Given the description of an element on the screen output the (x, y) to click on. 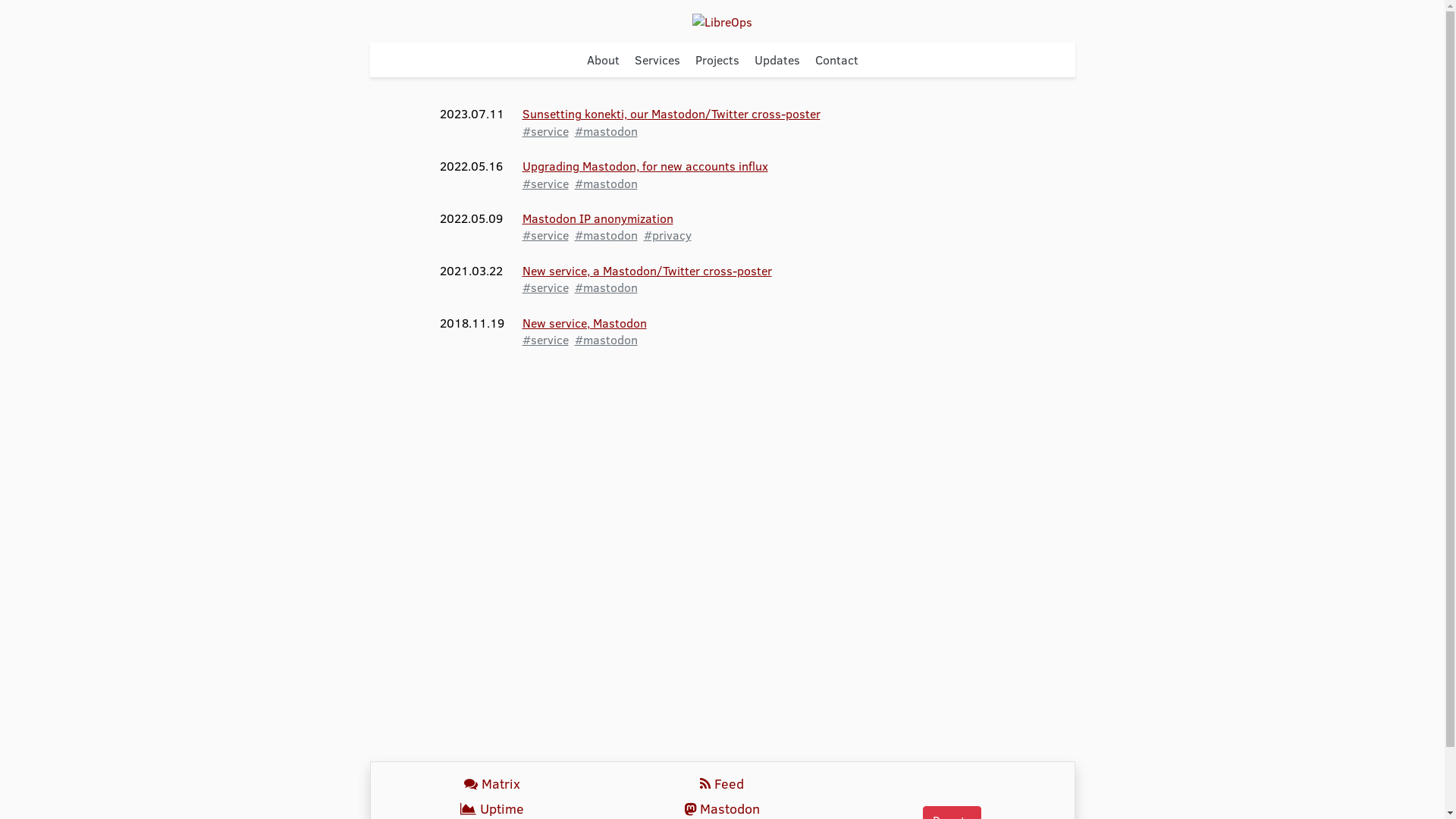
#service Element type: text (544, 339)
#mastodon Element type: text (605, 130)
Uptime Element type: text (491, 808)
#mastodon Element type: text (605, 234)
Matrix Element type: text (491, 783)
#service Element type: text (544, 286)
New service, Mastodon Element type: text (583, 322)
Feed Element type: text (721, 783)
#privacy Element type: text (666, 234)
Services Element type: text (656, 59)
#mastodon Element type: text (605, 183)
#mastodon Element type: text (605, 339)
Upgrading Mastodon, for new accounts influx Element type: text (644, 165)
#service Element type: text (544, 183)
#service Element type: text (544, 130)
#mastodon Element type: text (605, 286)
Mastodon IP anonymization Element type: text (596, 217)
About Element type: text (602, 59)
Mastodon Element type: text (721, 808)
Projects Element type: text (716, 59)
Updates Element type: text (776, 59)
Contact Element type: text (835, 59)
New service, a Mastodon/Twitter cross-poster Element type: text (646, 270)
#service Element type: text (544, 234)
Sunsetting konekti, our Mastodon/Twitter cross-poster Element type: text (670, 113)
